Given the description of an element on the screen output the (x, y) to click on. 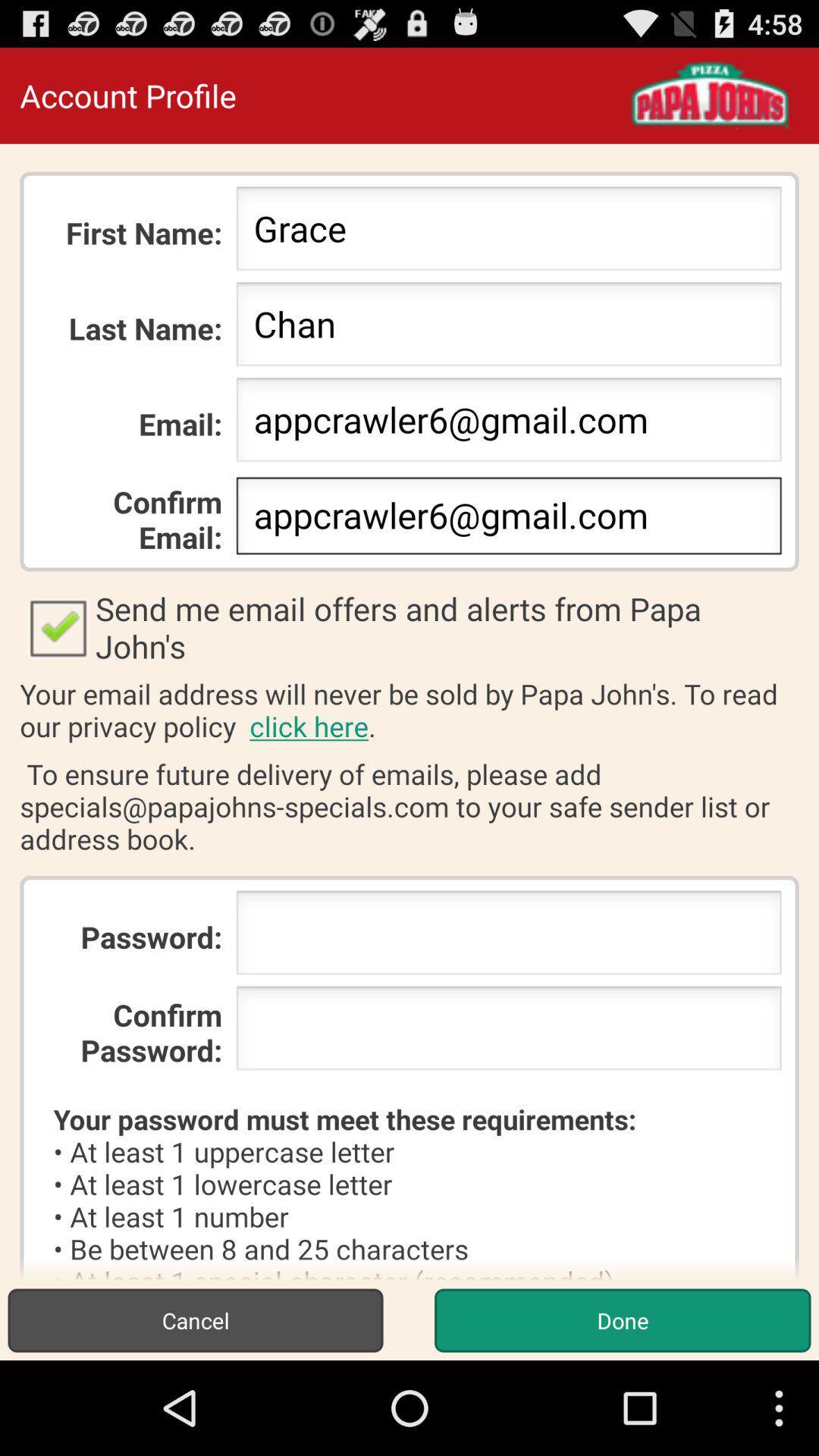
swipe until chan icon (508, 328)
